Given the description of an element on the screen output the (x, y) to click on. 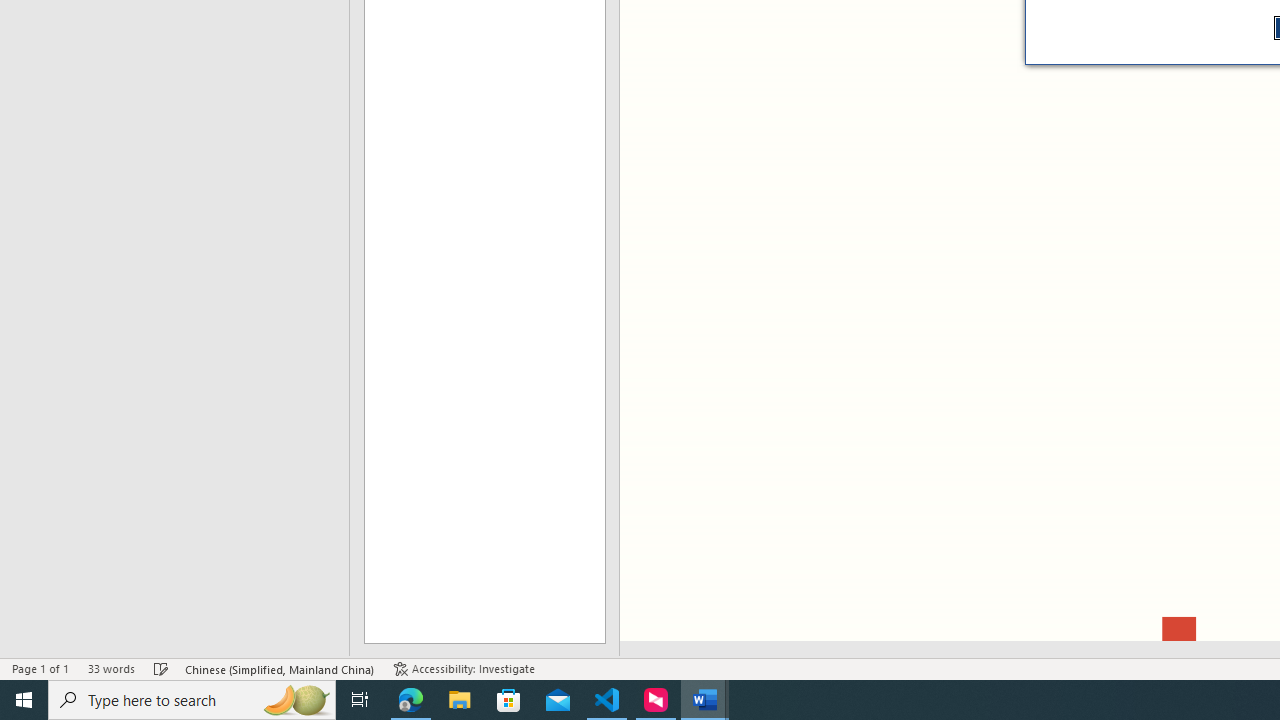
Microsoft Edge - 1 running window (411, 699)
Page Number Page 1 of 1 (39, 668)
File Explorer (460, 699)
Word - 2 running windows (704, 699)
